Given the description of an element on the screen output the (x, y) to click on. 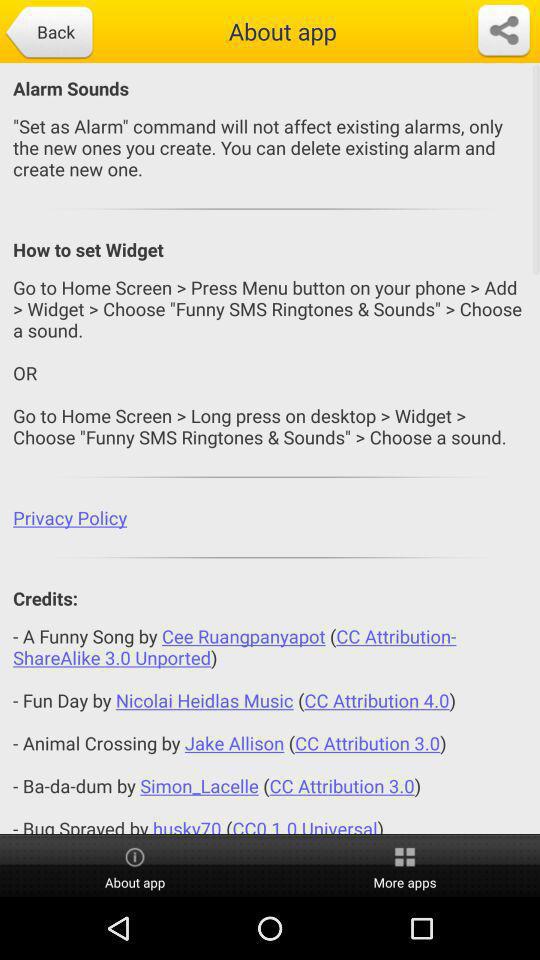
scroll until the back icon (48, 33)
